Given the description of an element on the screen output the (x, y) to click on. 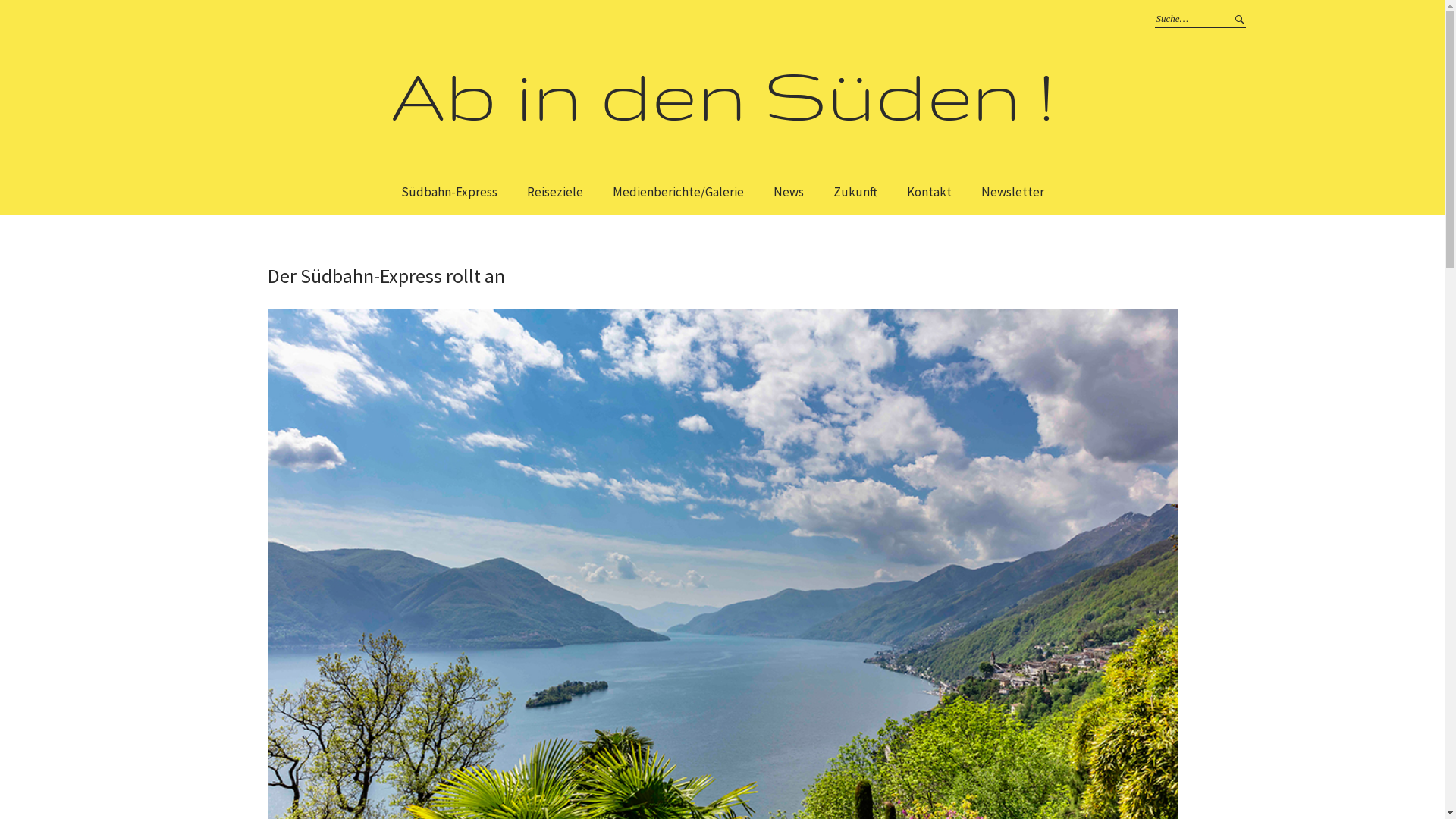
Reiseziele Element type: text (554, 191)
Medienberichte/Galerie Element type: text (678, 191)
Suche Element type: text (1237, 18)
Zukunft Element type: text (854, 191)
Newsletter Element type: text (1012, 191)
Kontakt Element type: text (929, 191)
News Element type: text (788, 191)
